Given the description of an element on the screen output the (x, y) to click on. 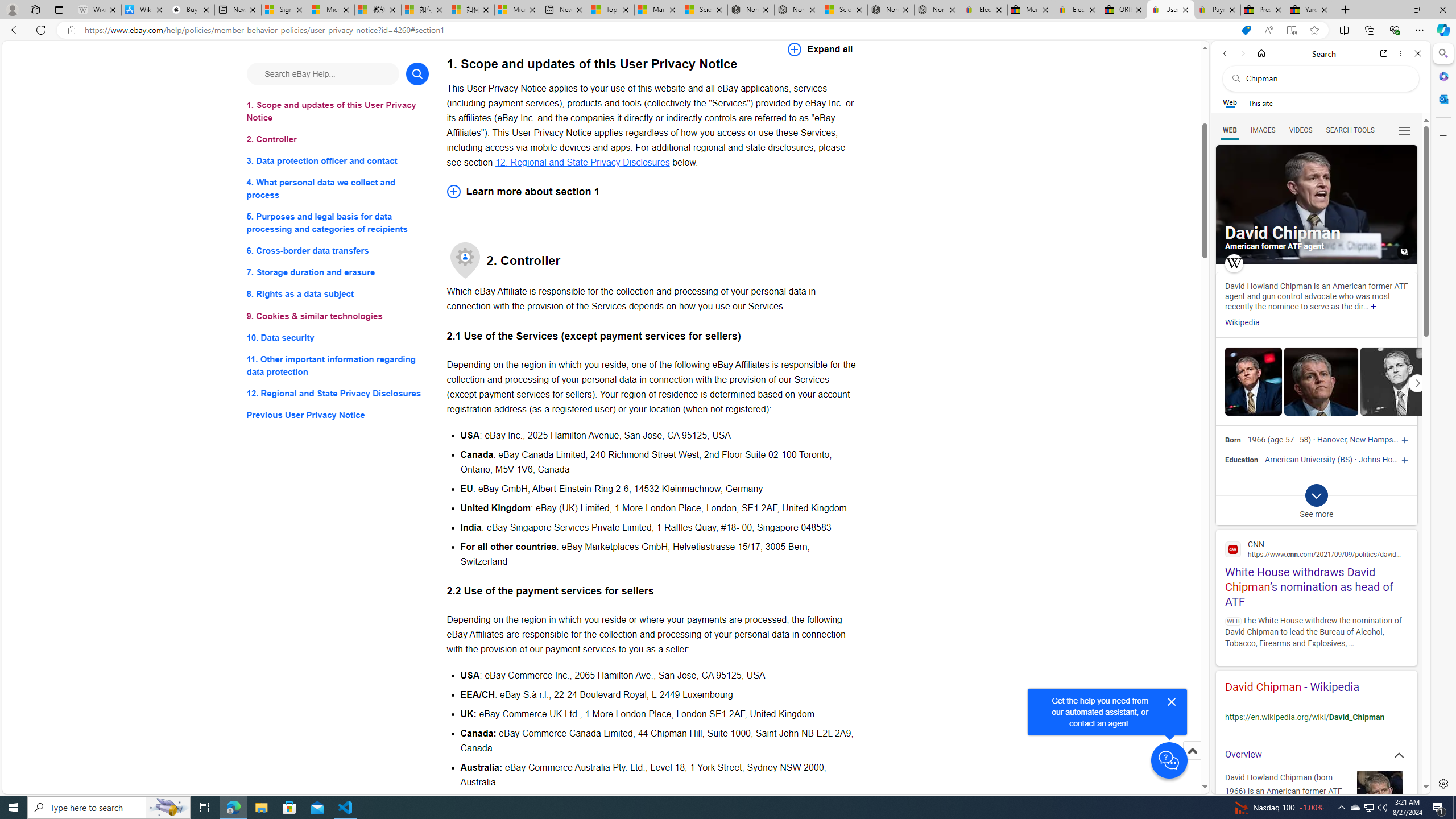
2. Controller (337, 138)
Education (1240, 459)
CNN (1315, 548)
7. Storage duration and erasure (337, 272)
Expand all (820, 49)
